Given the description of an element on the screen output the (x, y) to click on. 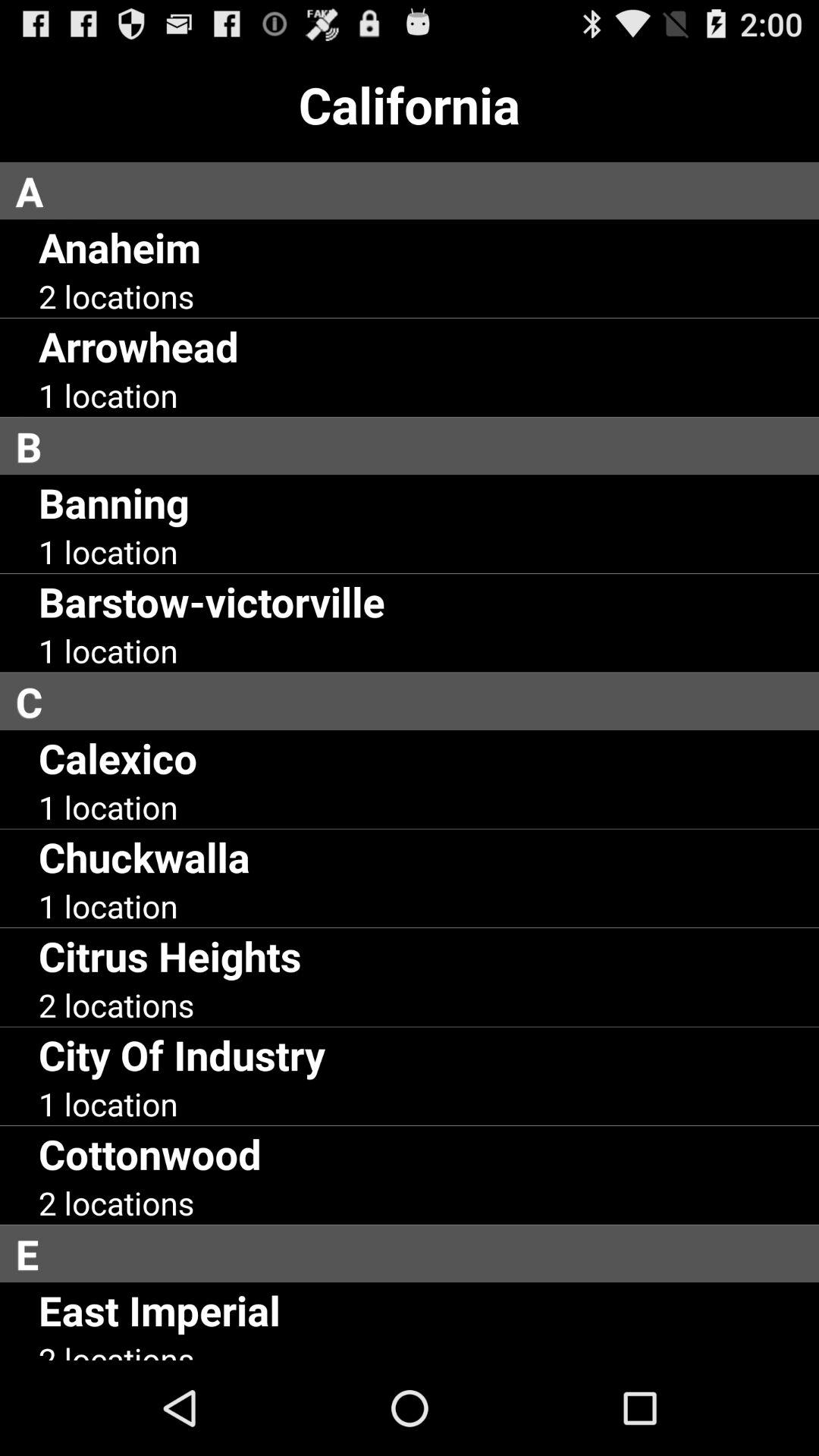
open anaheim (119, 246)
